Given the description of an element on the screen output the (x, y) to click on. 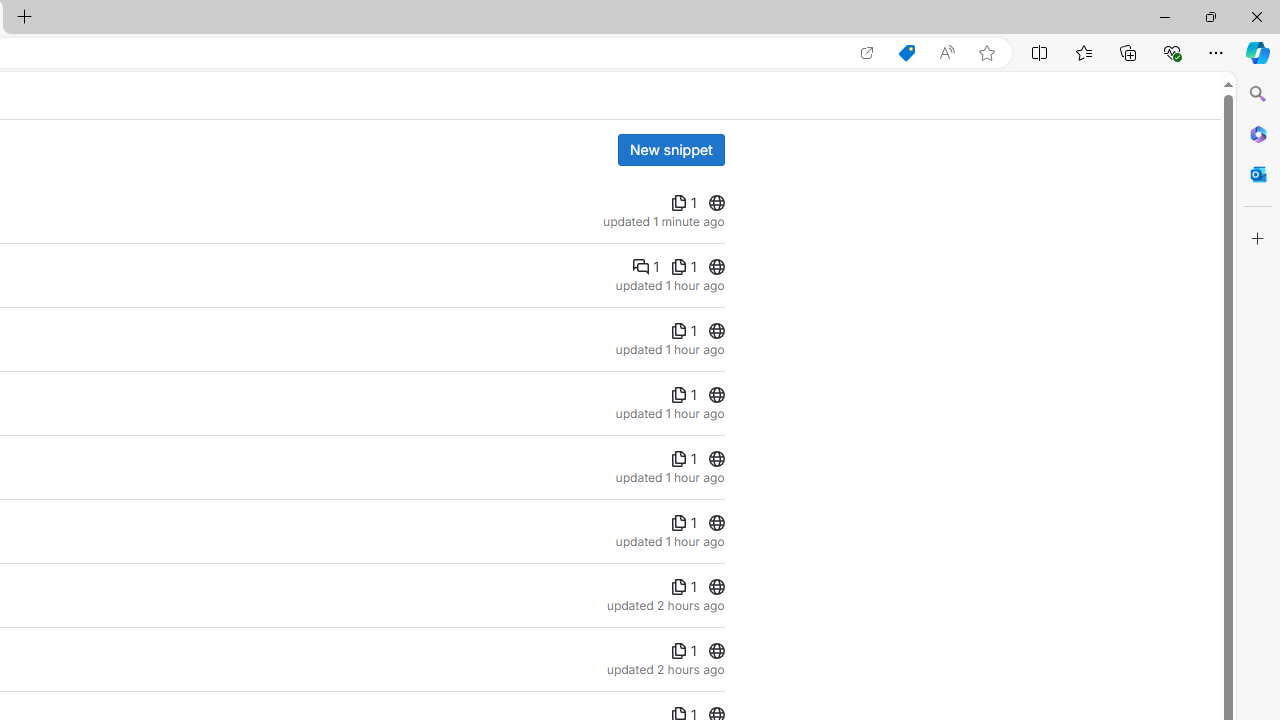
Class: s16 gl-align-middle (678, 651)
Shopping in Microsoft Edge (906, 53)
New snippet (670, 150)
Open in app (867, 53)
